Given the description of an element on the screen output the (x, y) to click on. 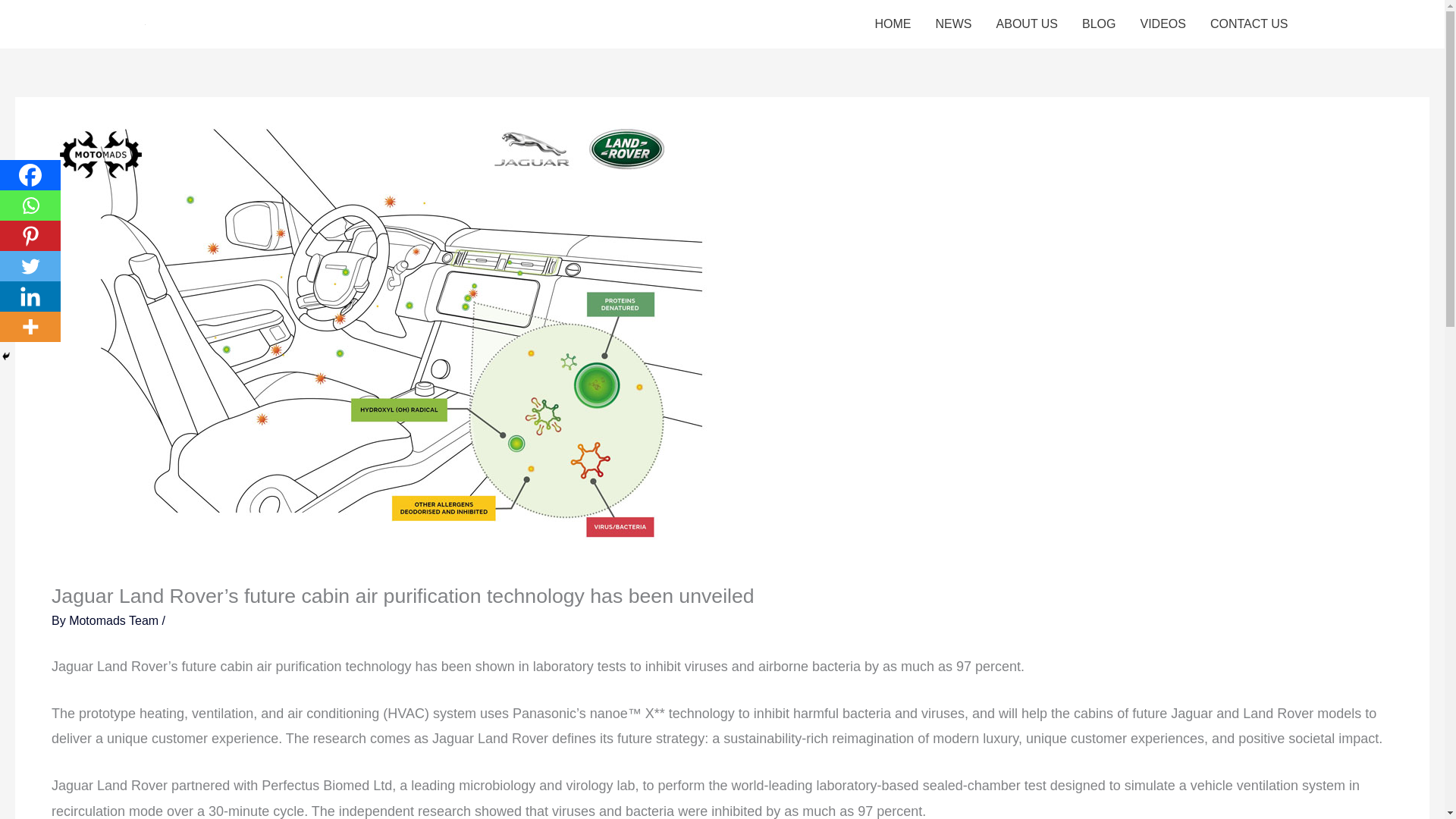
Whatsapp (30, 205)
Pinterest (30, 235)
NEWS (953, 24)
Linkedin (30, 296)
Hide (5, 356)
Motomads Team (114, 620)
CONTACT US (1249, 24)
More (30, 327)
BLOG (1098, 24)
Twitter (30, 265)
View all posts by Motomads Team (114, 620)
Facebook (30, 174)
ABOUT US (1027, 24)
HOME (893, 24)
VIDEOS (1163, 24)
